Given the description of an element on the screen output the (x, y) to click on. 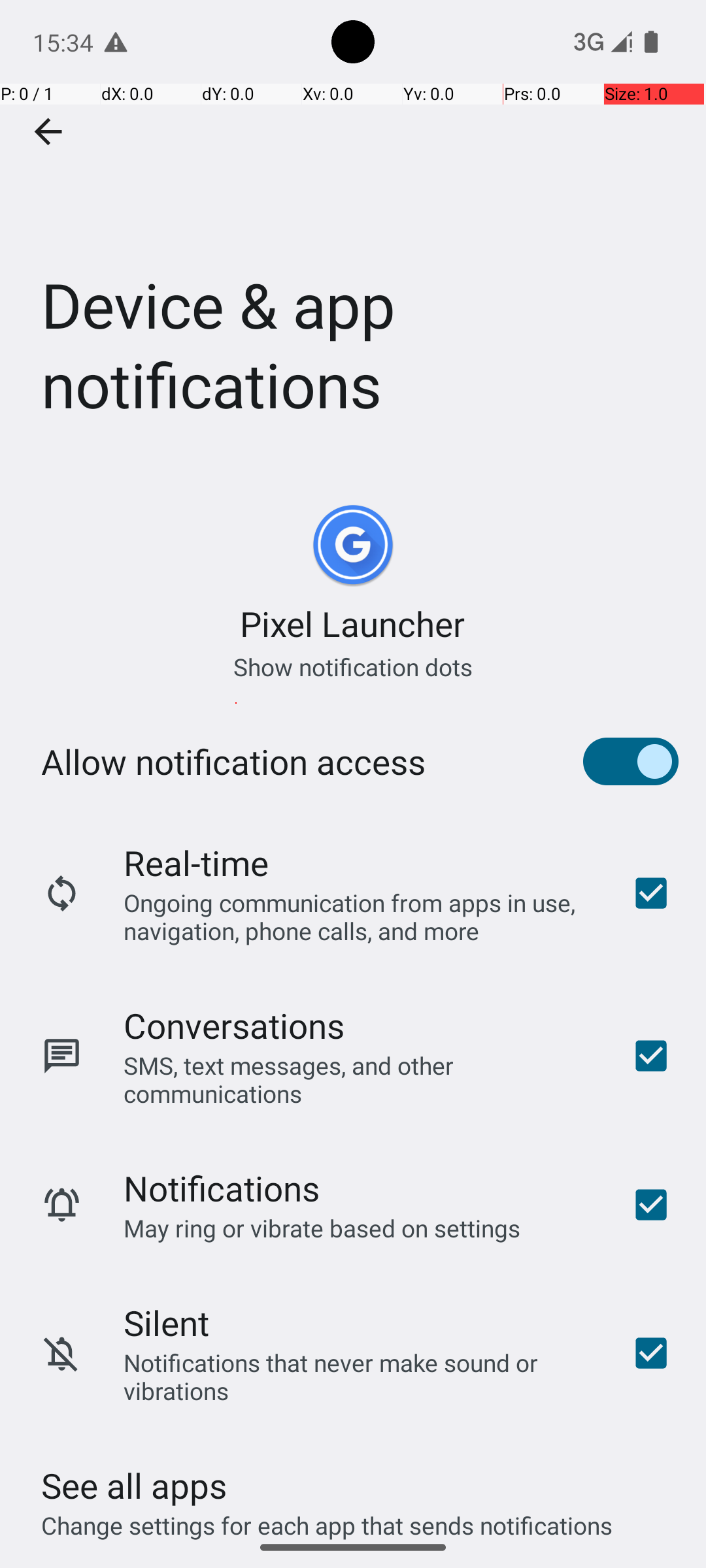
Device & app notifications Element type: android.widget.FrameLayout (353, 231)
Pixel Launcher Element type: android.widget.TextView (352, 623)
Show notification dots Element type: android.widget.TextView (352, 666)
Allow notification access Element type: android.widget.TextView (233, 761)
Real-time Element type: android.widget.TextView (195, 862)
Ongoing communication from apps in use, navigation, phone calls, and more Element type: android.widget.TextView (359, 916)
Conversations Element type: android.widget.TextView (233, 1025)
SMS, text messages, and other communications Element type: android.widget.TextView (359, 1079)
May ring or vibrate based on settings Element type: android.widget.TextView (322, 1227)
Silent Element type: android.widget.TextView (166, 1322)
Notifications that never make sound or vibrations Element type: android.widget.TextView (359, 1376)
See all apps Element type: android.widget.TextView (133, 1485)
Change settings for each app that sends notifications Element type: android.widget.TextView (326, 1517)
